Given the description of an element on the screen output the (x, y) to click on. 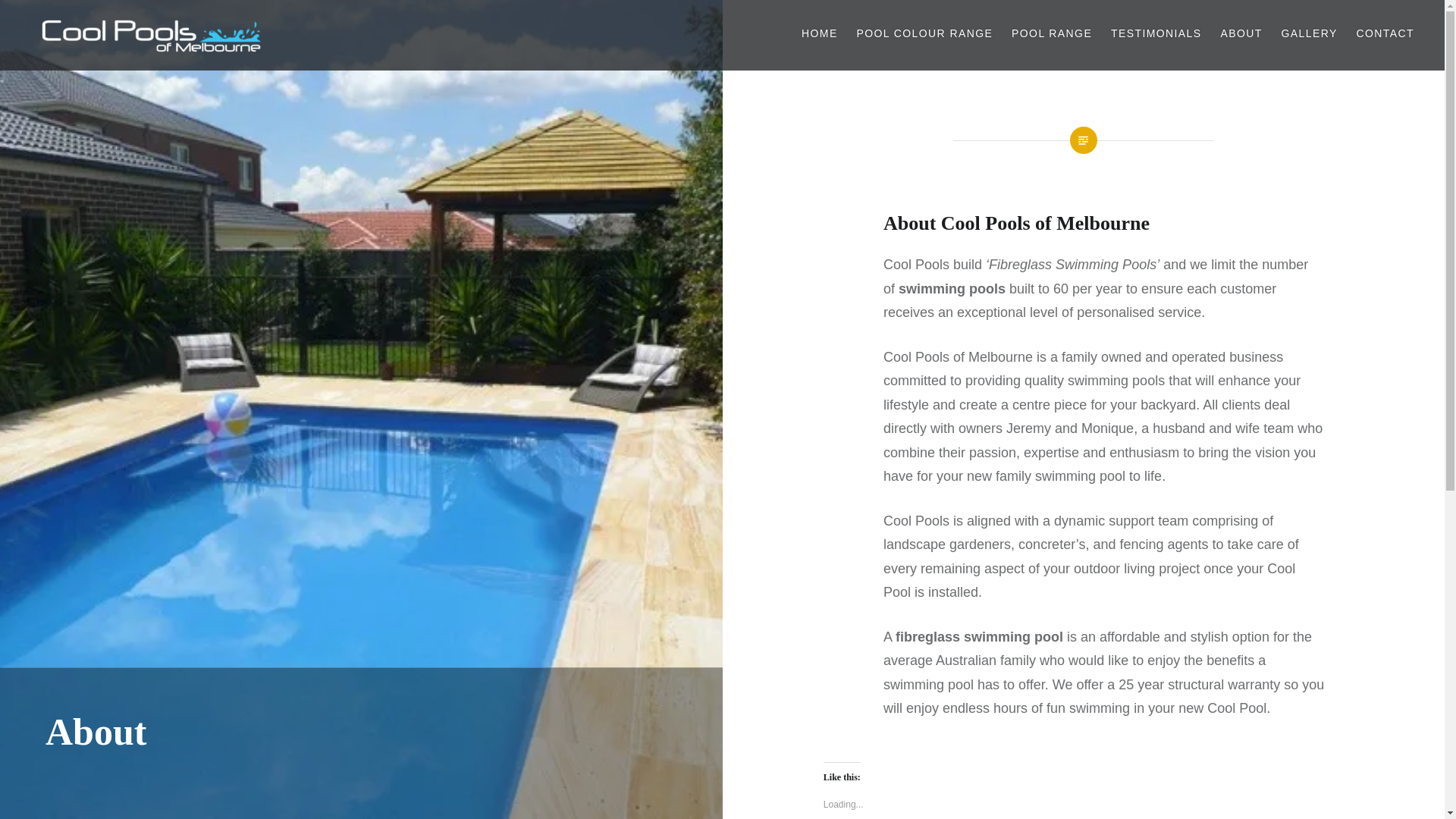
POOL RANGE Element type: text (1051, 33)
ABOUT Element type: text (1240, 33)
POOL COLOUR RANGE Element type: text (924, 33)
CONTACT Element type: text (1385, 33)
Cool Pools of Melbourne- Fibreglass swimming pools Element type: text (287, 71)
TESTIMONIALS Element type: text (1155, 33)
GALLERY Element type: text (1309, 33)
HOME Element type: text (819, 33)
